Given the description of an element on the screen output the (x, y) to click on. 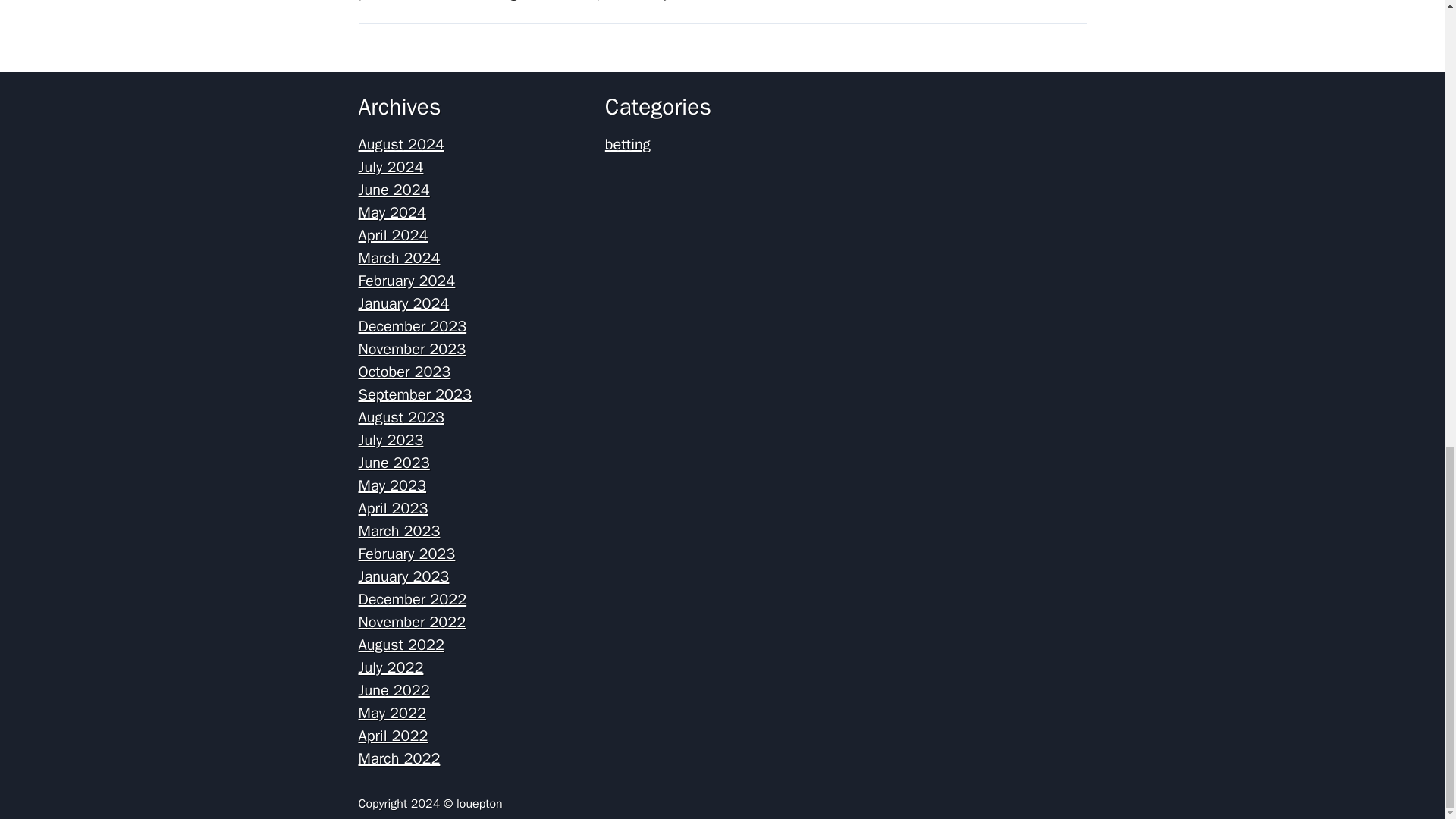
July 2022 (390, 667)
December 2022 (411, 599)
February 2023 (406, 553)
June 2023 (393, 462)
June 2022 (393, 690)
November 2022 (411, 621)
July 2024 (390, 167)
February 2024 (406, 280)
August 2022 (401, 644)
April 2024 (393, 235)
